Given the description of an element on the screen output the (x, y) to click on. 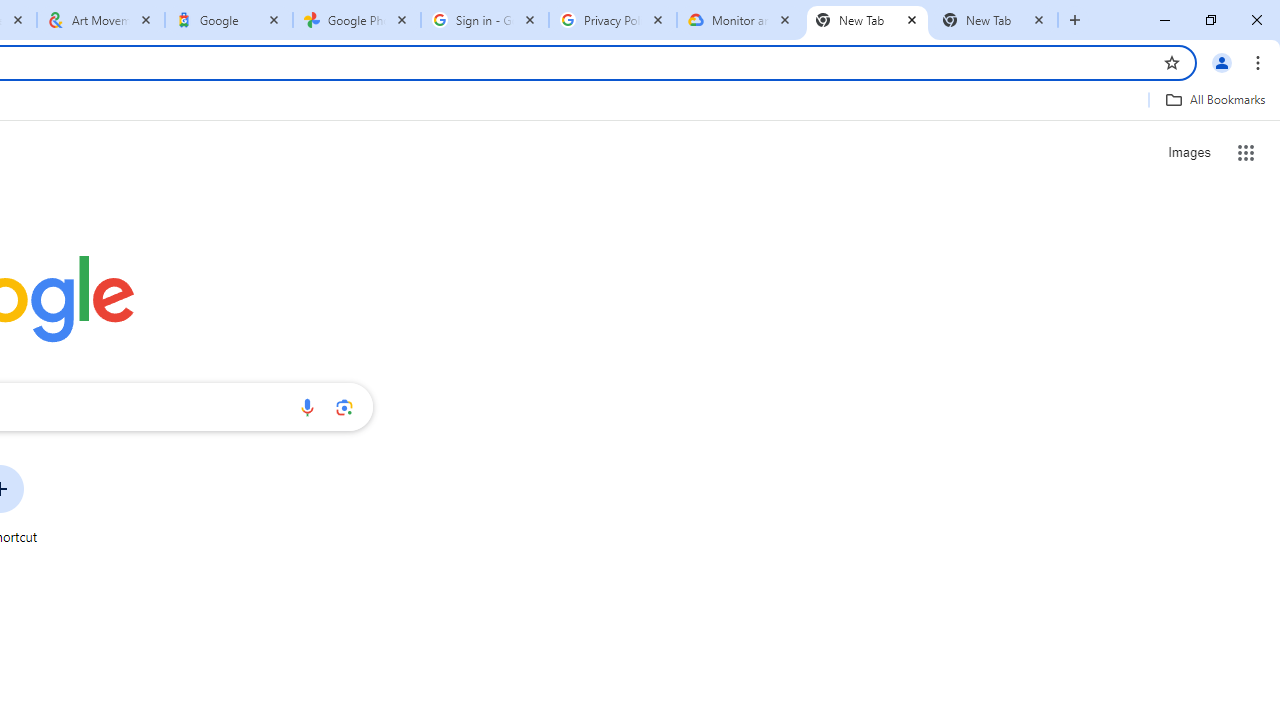
Google apps (1245, 152)
All Bookmarks (1215, 99)
Sign in - Google Accounts (485, 20)
Search for Images  (1188, 152)
New Tab (994, 20)
